Given the description of an element on the screen output the (x, y) to click on. 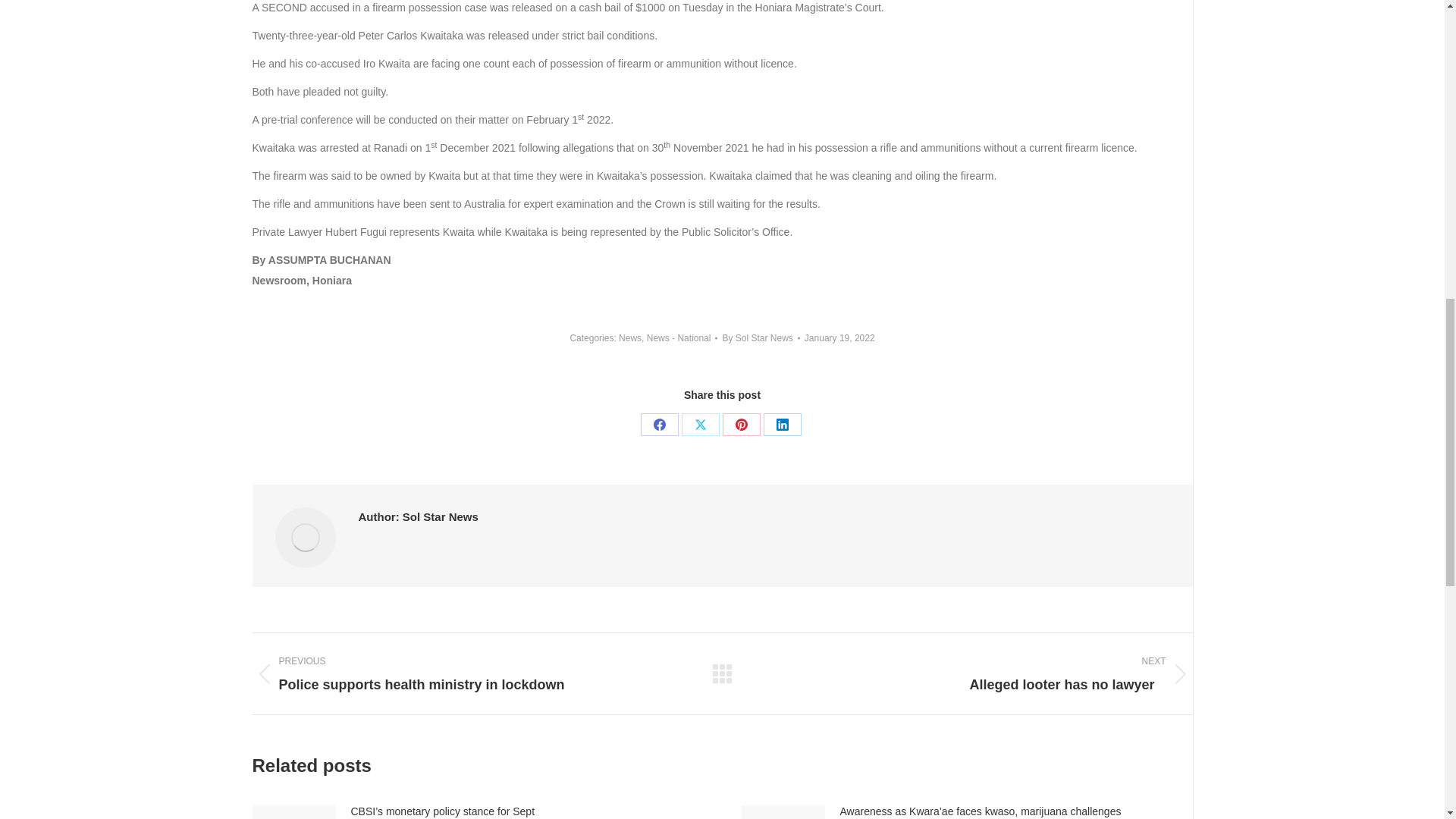
News (630, 337)
Pinterest (741, 424)
LinkedIn (781, 424)
News - National (678, 337)
View all posts by Sol Star News (760, 338)
12:09 pm (840, 338)
Facebook (659, 424)
X (700, 424)
